Given the description of an element on the screen output the (x, y) to click on. 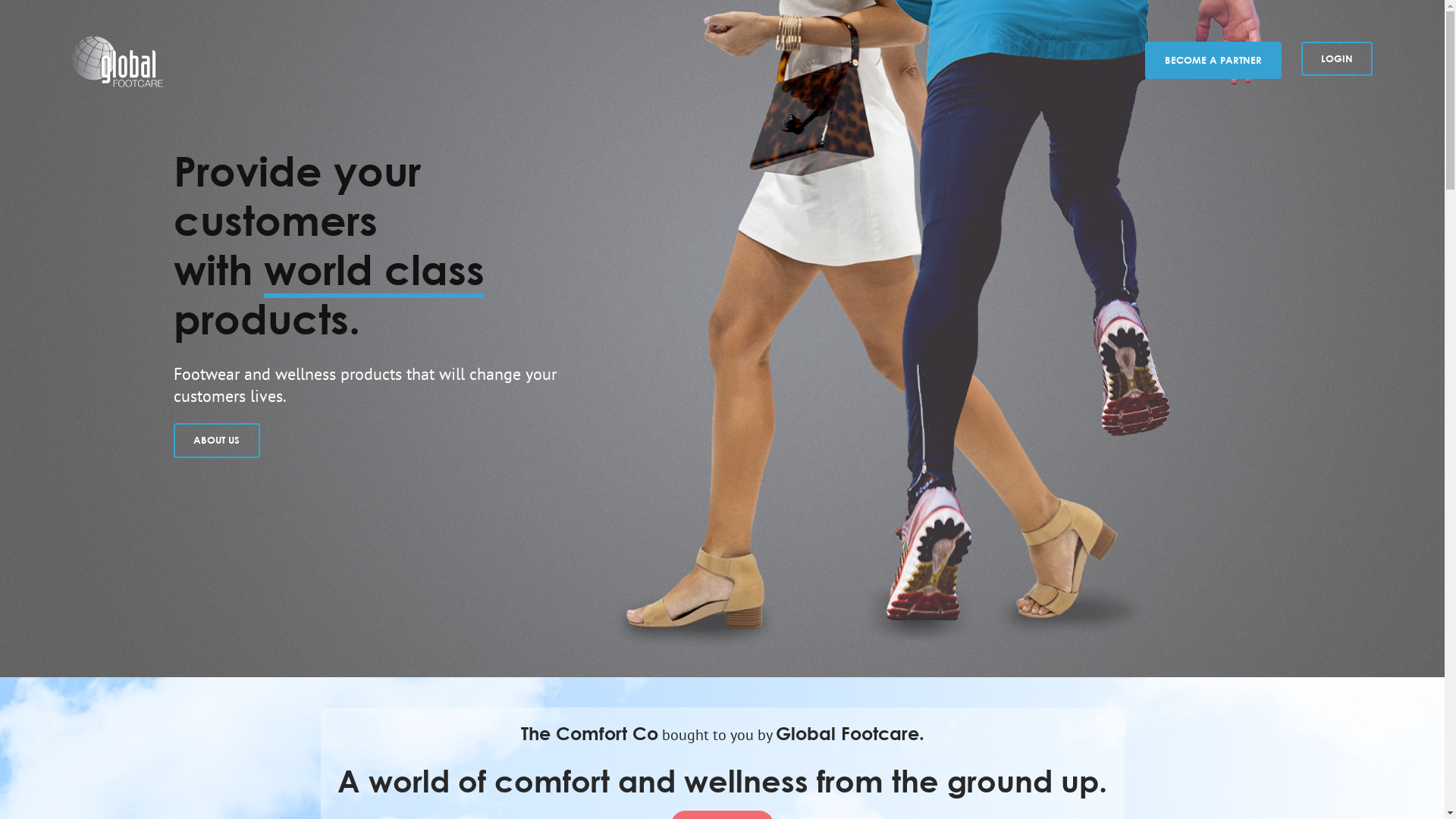
LOGIN Element type: text (1336, 58)
ABOUT US Element type: text (216, 440)
A world of comfort and wellness from the ground up. Element type: text (721, 780)
BECOME A PARTNER Element type: text (1213, 59)
